Given the description of an element on the screen output the (x, y) to click on. 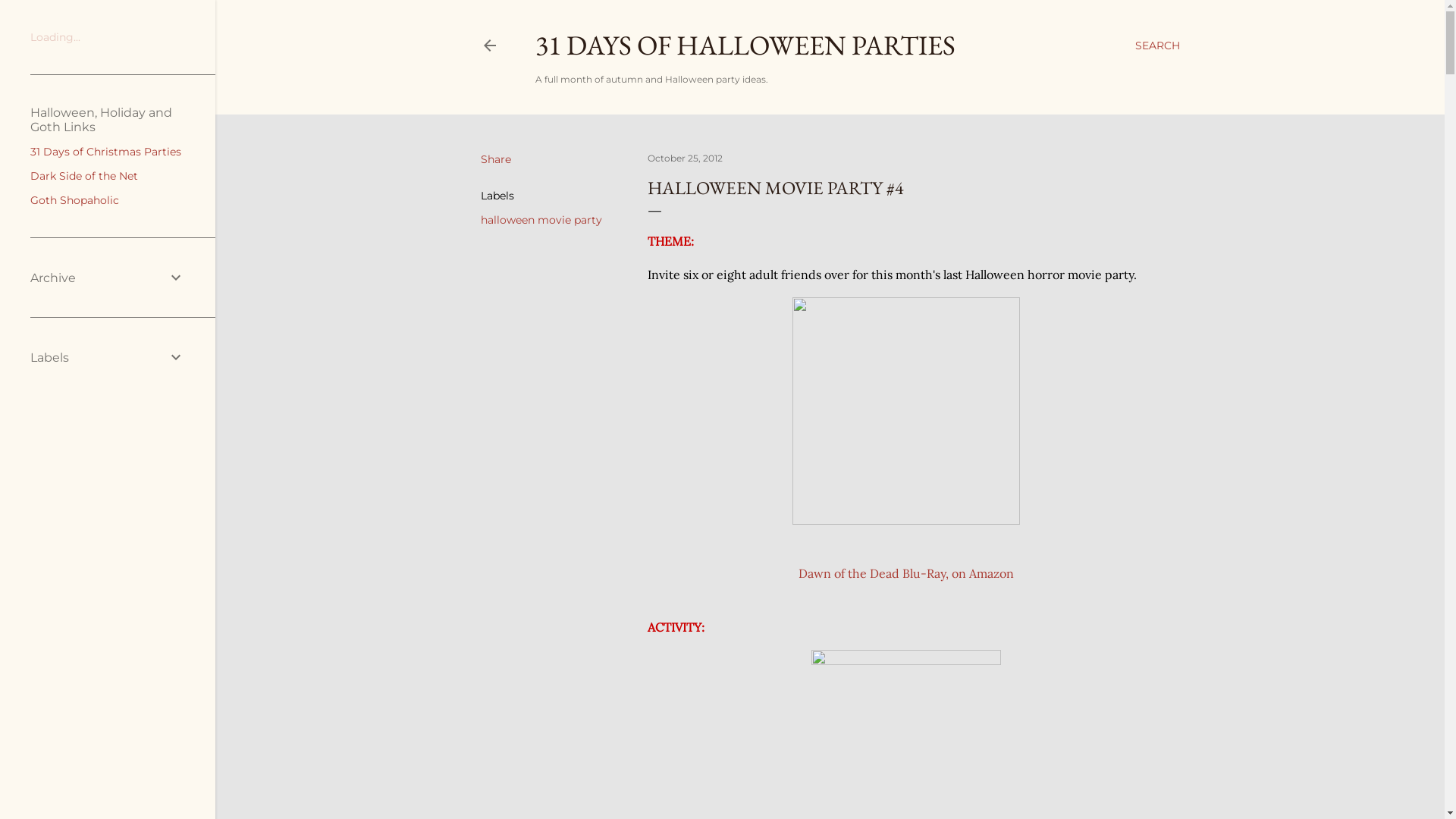
October 25, 2012 Element type: text (684, 157)
Dawn of the Dead Blu-Ray, on Amazon Element type: text (905, 572)
31 DAYS OF HALLOWEEN PARTIES Element type: text (745, 44)
31 Days of Christmas Parties Element type: text (105, 151)
Share Element type: text (495, 159)
Dark Side of the Net Element type: text (84, 175)
Goth Shopaholic Element type: text (74, 200)
Loading... Element type: text (55, 36)
SEARCH Element type: text (1156, 45)
halloween movie party Element type: text (541, 219)
